Given the description of an element on the screen output the (x, y) to click on. 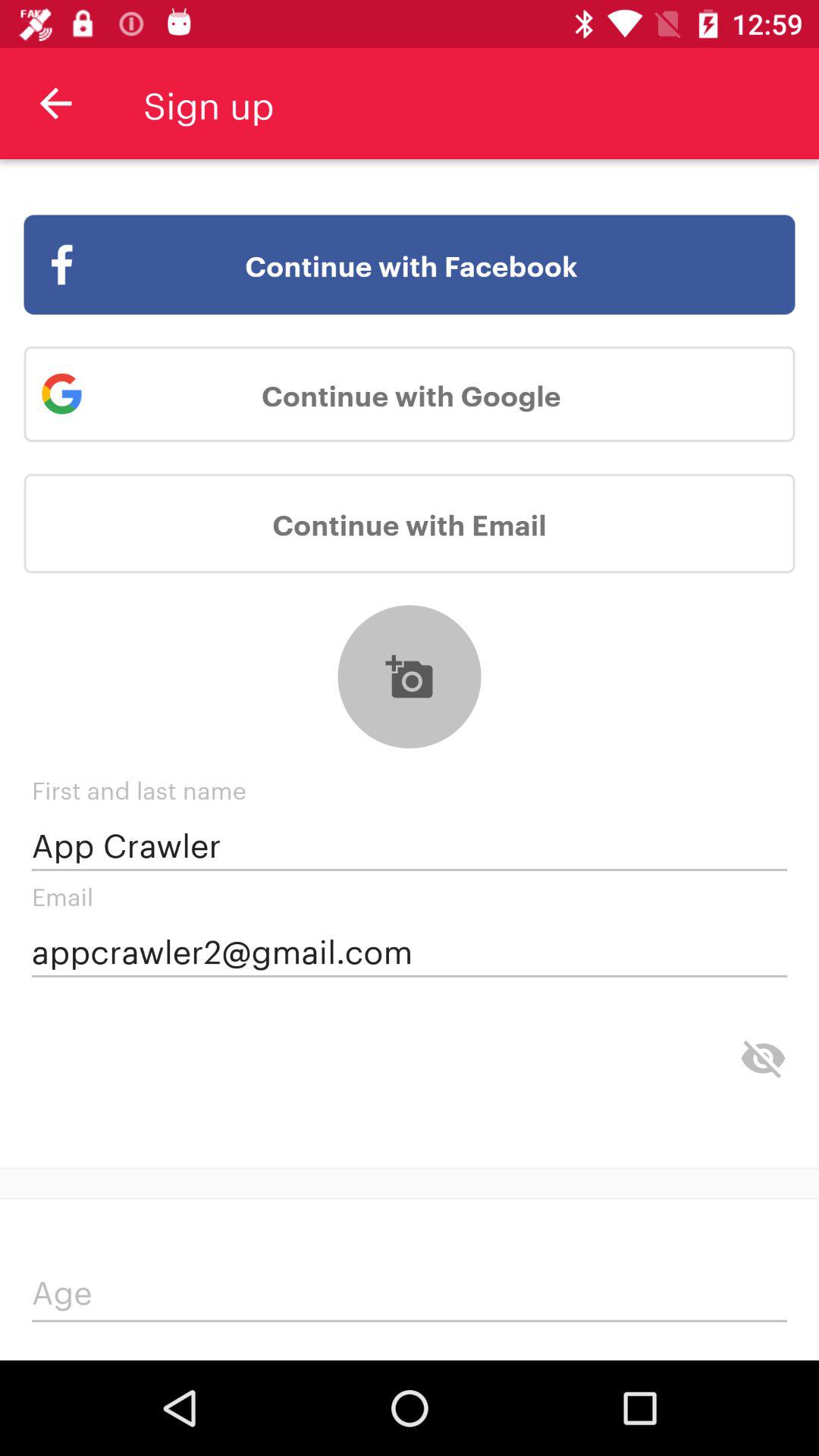
toggle field of view (763, 1058)
